Given the description of an element on the screen output the (x, y) to click on. 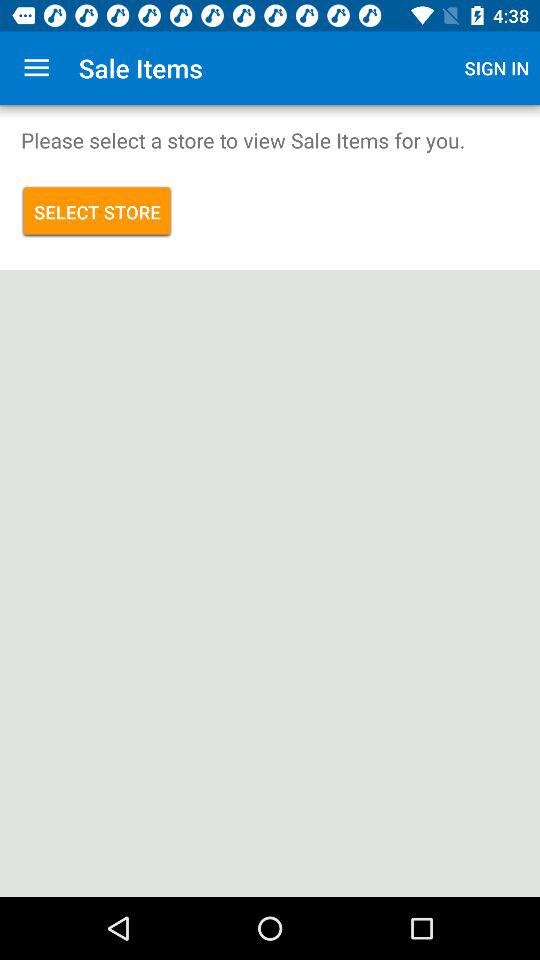
turn on the icon at the top right corner (497, 67)
